Given the description of an element on the screen output the (x, y) to click on. 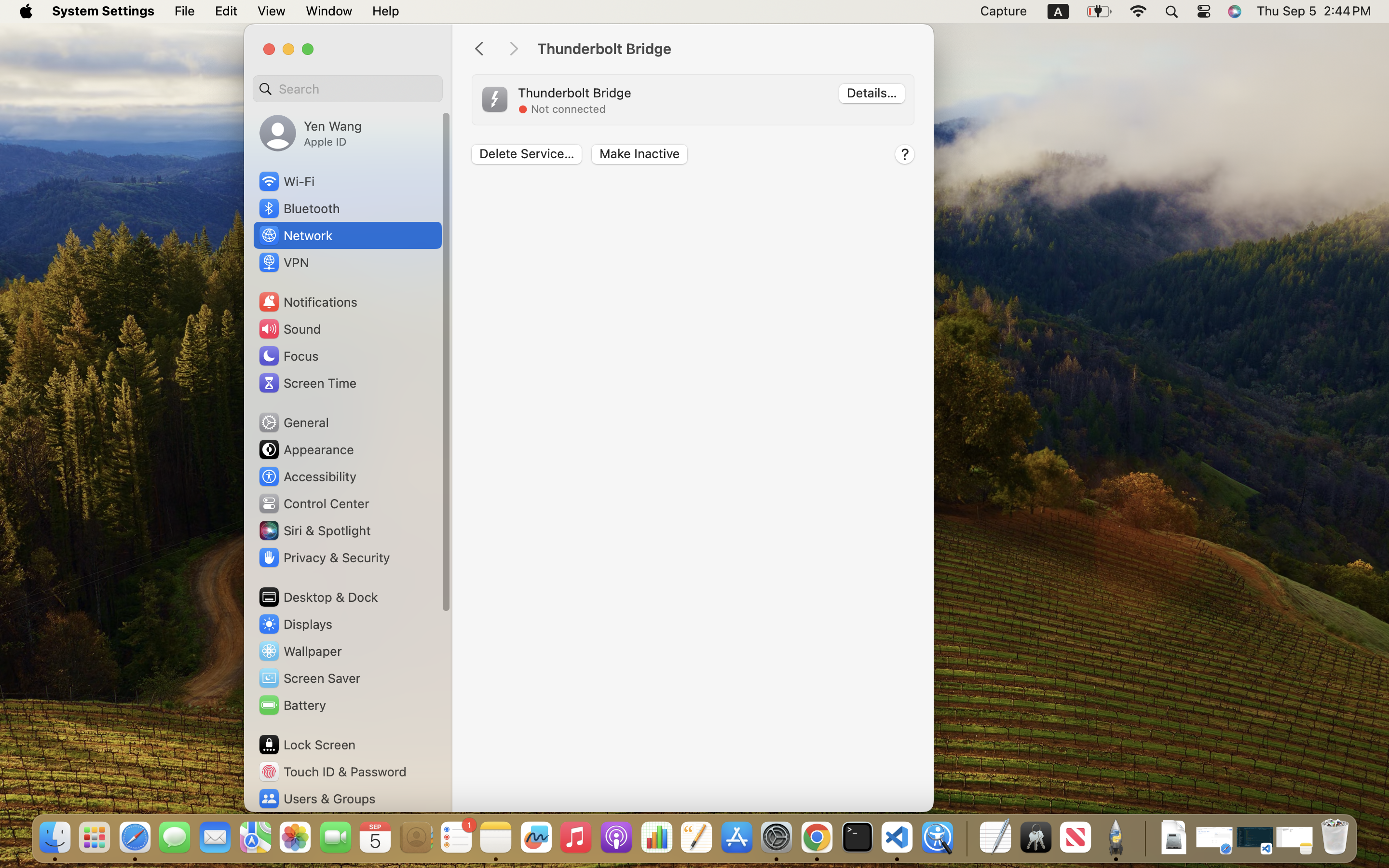
General Element type: AXStaticText (292, 422)
Not connected Element type: AXStaticText (567, 108)
Network Element type: AXStaticText (294, 234)
Thunderbolt Bridge Element type: AXStaticText (725, 49)
Wi‑Fi Element type: AXStaticText (285, 180)
